Given the description of an element on the screen output the (x, y) to click on. 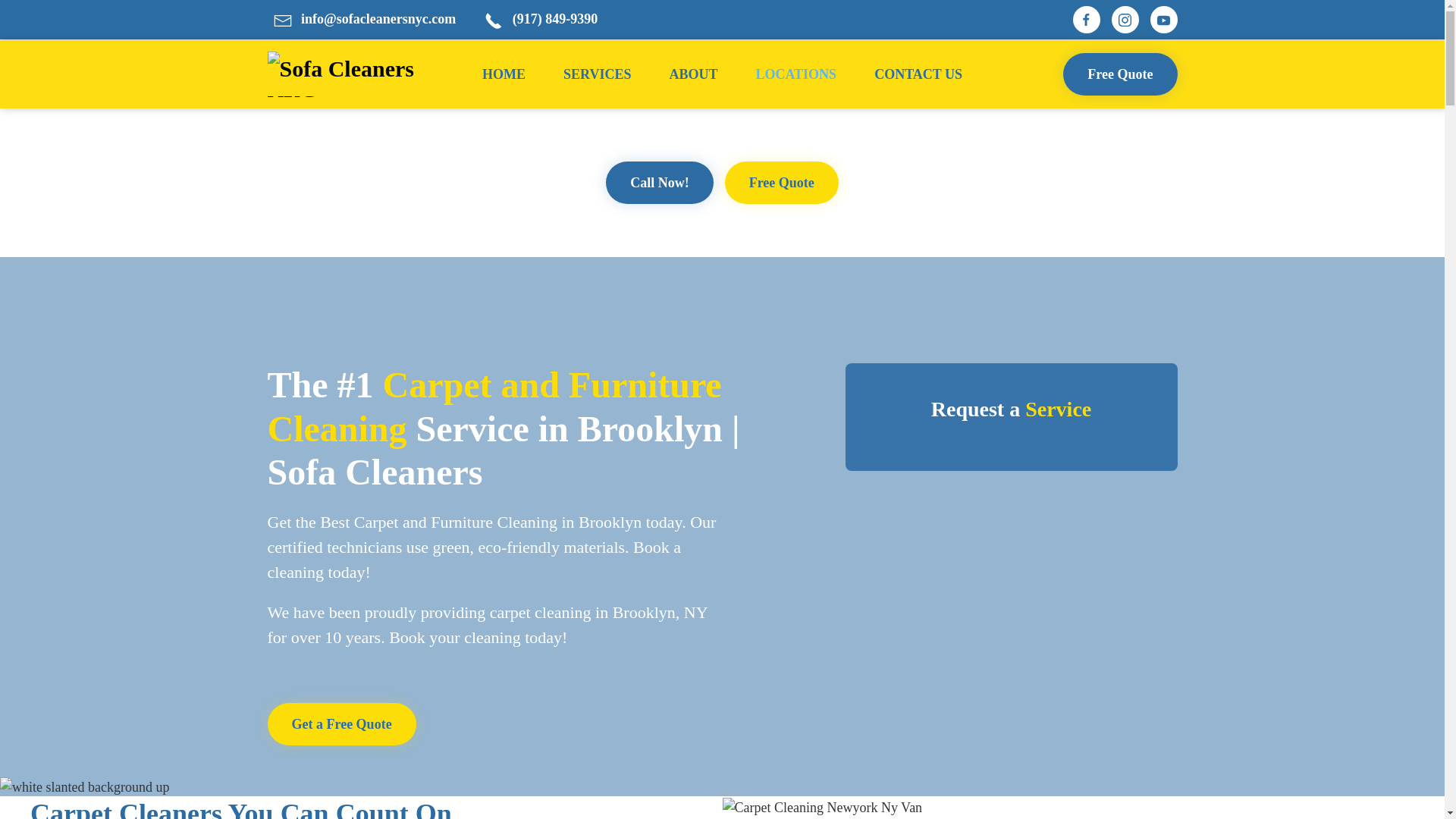
Get a Free Quote (340, 723)
CONTACT US (917, 74)
HOME (503, 74)
ABOUT (692, 74)
Request a Service (1010, 416)
LOCATIONS (796, 74)
Get a Free Quote (529, 723)
Free Quote (1119, 74)
Free Quote (781, 182)
Call Now! (659, 182)
SERVICES (596, 74)
